Given the description of an element on the screen output the (x, y) to click on. 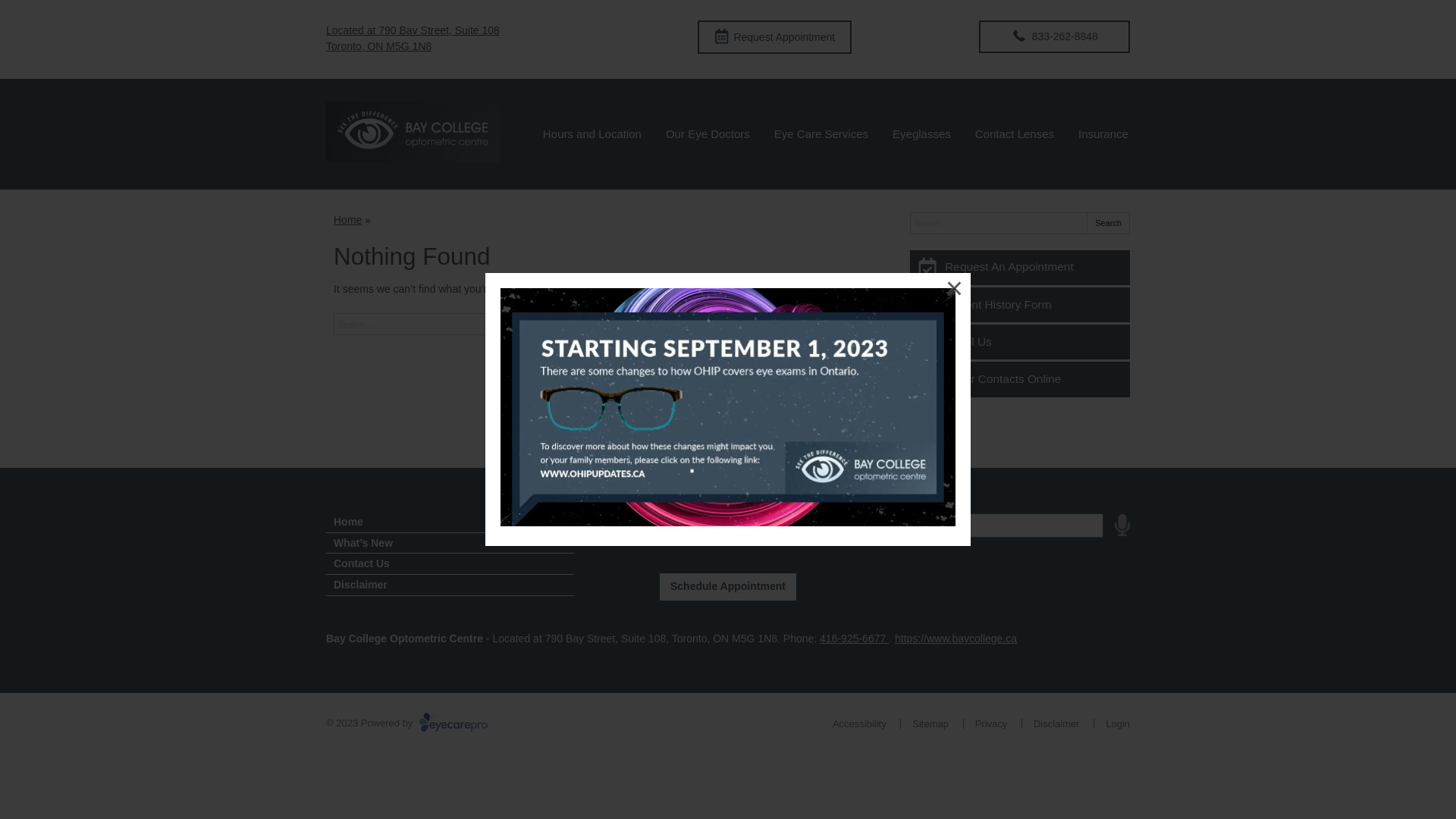
Hours and Location Element type: text (591, 133)
Accessibility Element type: text (859, 723)
Located at 790 Bay Street, Suite 108
Toronto, ON M5G 1N8 Element type: text (412, 38)
Schedule Appointment Element type: text (727, 586)
Sitemap Element type: text (930, 723)
833-262-8848 Element type: text (1054, 36)
Speak Field Element type: hover (992, 525)
Login Element type: text (1117, 723)
Search Element type: text (850, 324)
Search Element type: text (1107, 223)
Eye Care Services Element type: text (821, 133)
Disclaimer Element type: text (450, 584)
Privacy Element type: text (991, 723)
https://www.baycollege.ca Element type: text (955, 638)
Patient History Form Element type: text (1019, 304)
Contact Us Element type: text (450, 563)
Home Element type: text (450, 521)
Contact Lenses Element type: text (1014, 133)
Request Appointment Element type: text (774, 36)
Eyeglasses Element type: text (921, 133)
Home Element type: text (347, 219)
416-925-6677 Element type: text (853, 638)
Email Us Element type: text (1019, 341)
Request An Appointment Element type: text (1019, 267)
Order Contacts Online Element type: text (1019, 378)
Our Eye Doctors Element type: text (707, 133)
Insurance Element type: text (1103, 133)
Disclaimer Element type: text (1056, 723)
